Given the description of an element on the screen output the (x, y) to click on. 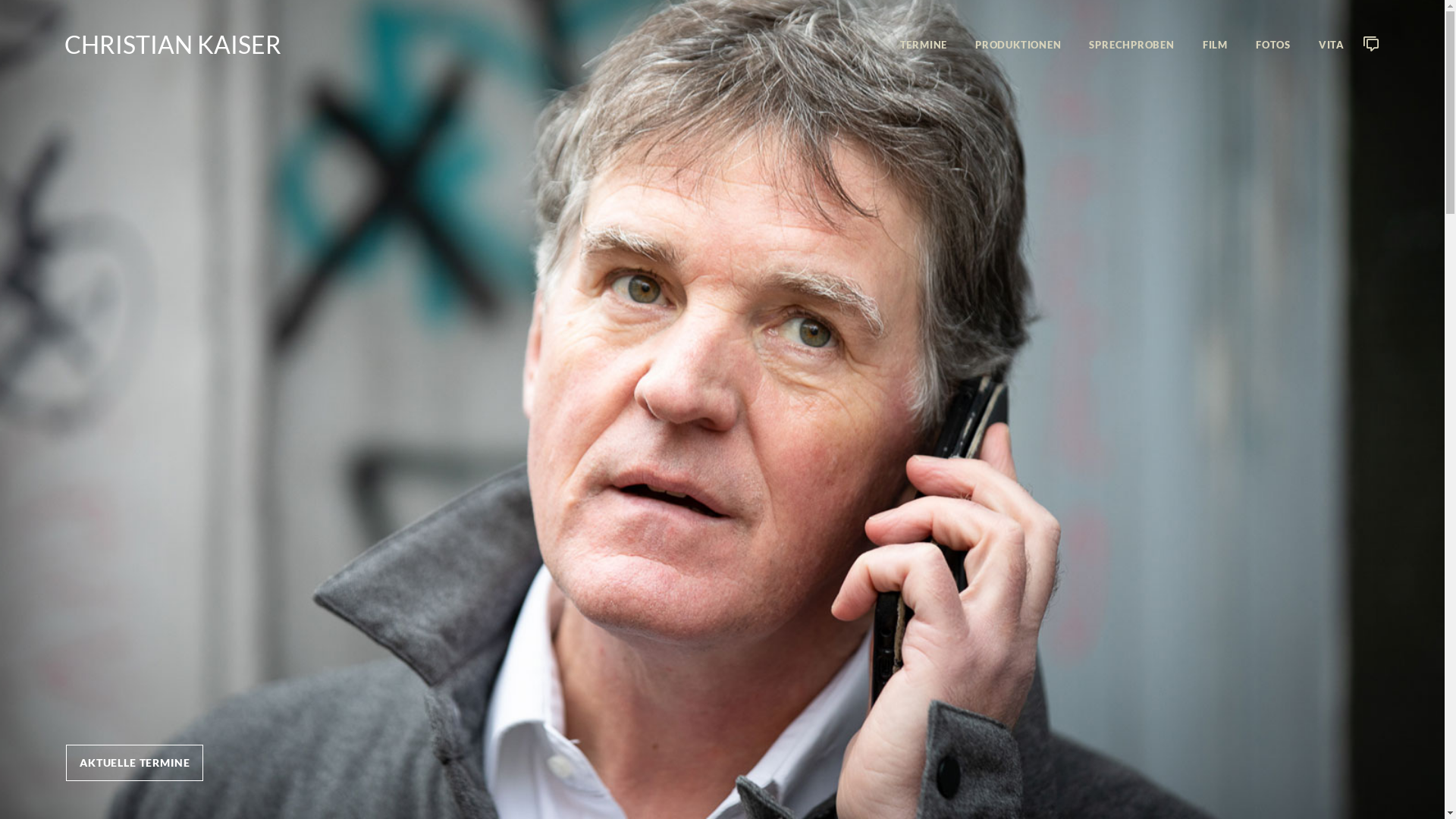
AKTUELLE TERMINE Element type: text (134, 762)
FOTOS Element type: text (1272, 44)
PRODUKTIONEN Element type: text (1017, 44)
TERMINE Element type: text (923, 44)
FILM Element type: text (1214, 44)
SPRECHPROBEN Element type: text (1130, 44)
VITA Element type: text (1331, 44)
CHRISTIAN KAISER Element type: text (172, 44)
